Given the description of an element on the screen output the (x, y) to click on. 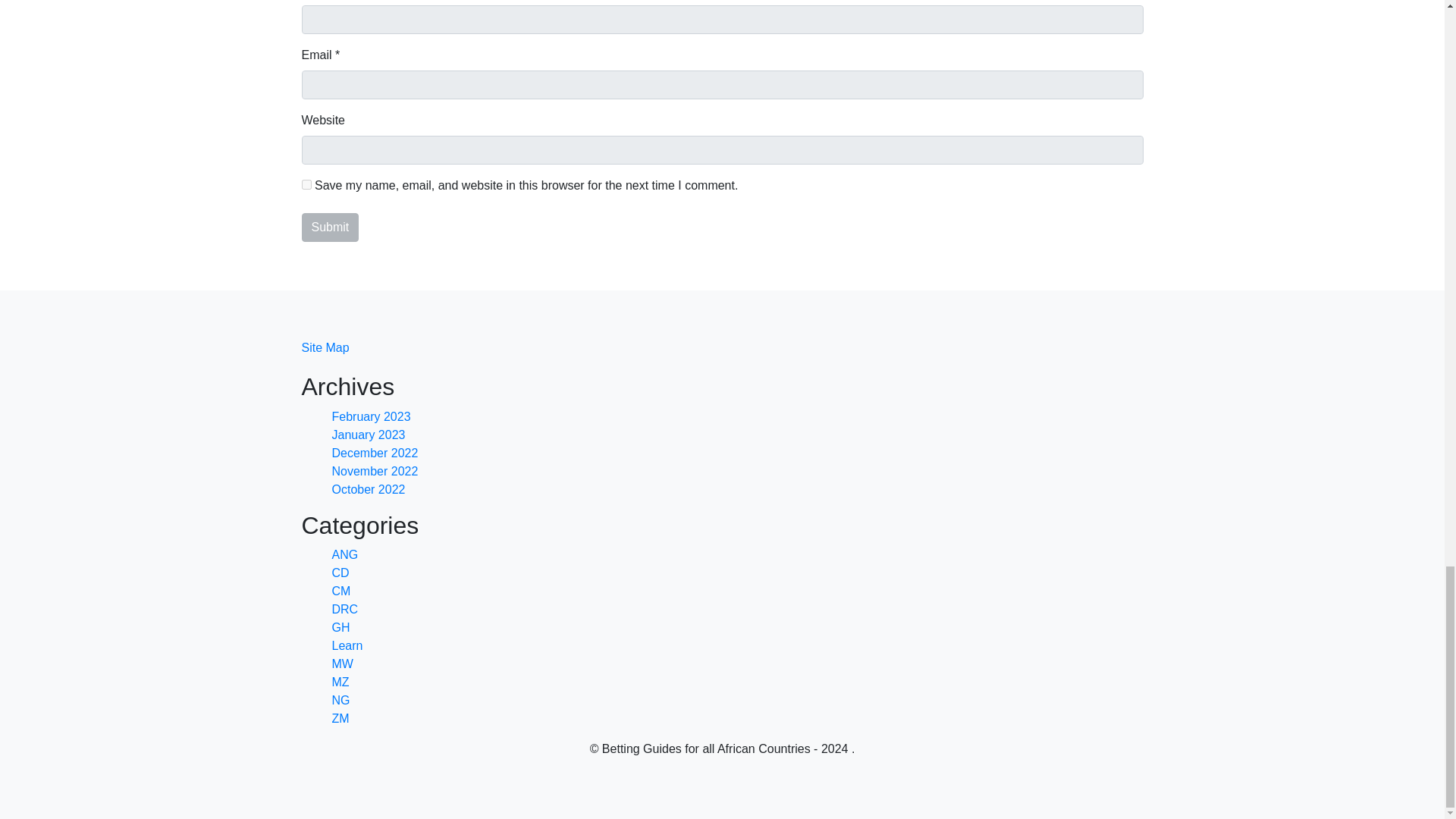
MZ (340, 681)
January 2023 (368, 434)
FAQ and guides for all Ghana Betting Sites (340, 626)
February 2023 (370, 416)
MW (342, 663)
GH (340, 626)
Submit (330, 226)
November 2022 (375, 471)
October 2022 (368, 489)
DRC (344, 608)
yes (306, 184)
CD (340, 572)
FAQ and guides for all Congo Betting sites (340, 572)
FAQ and guides for all MZ Betting Sites (340, 681)
December 2022 (375, 452)
